Given the description of an element on the screen output the (x, y) to click on. 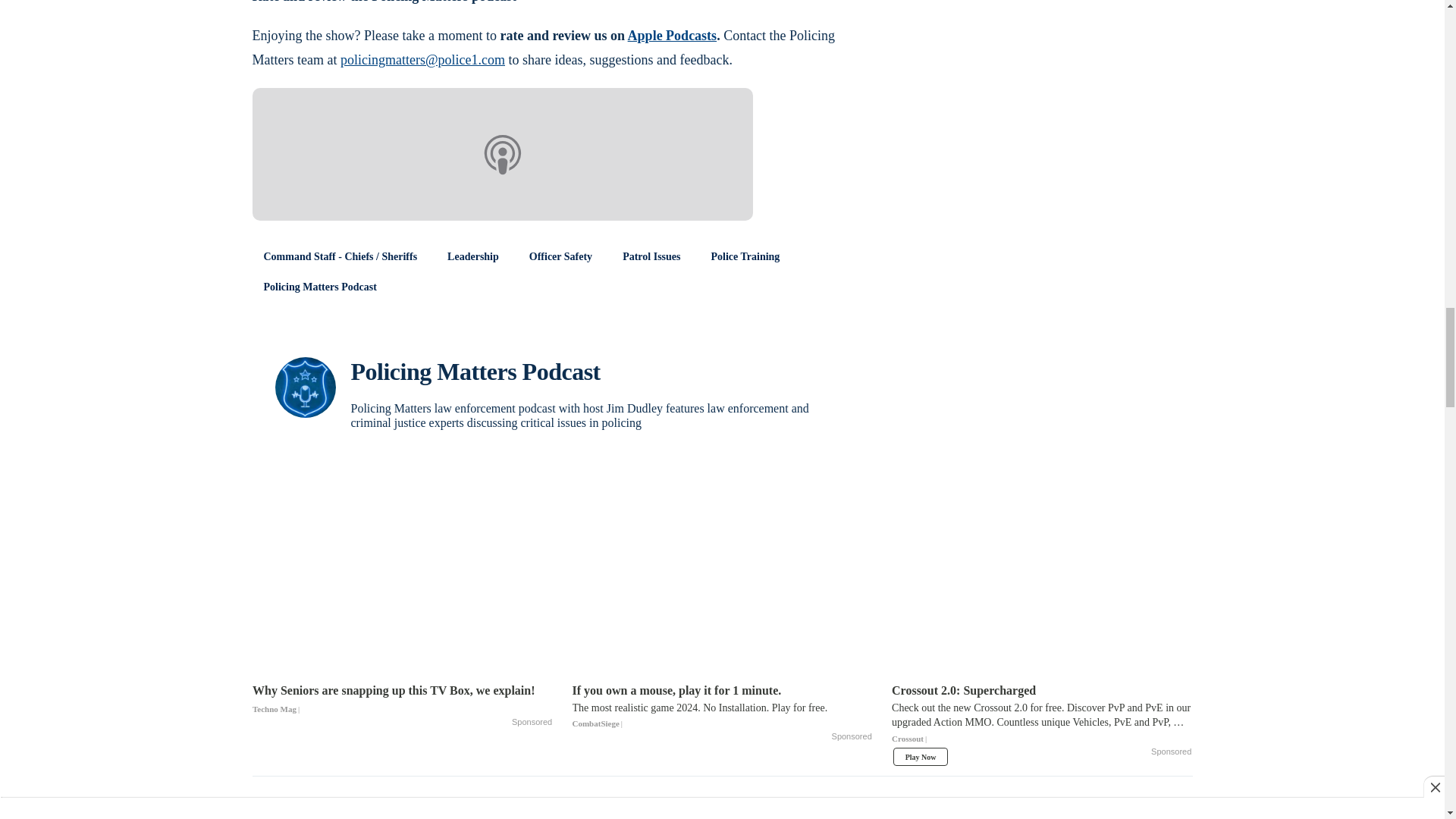
Crossout 2.0: Supercharged (1041, 718)
Why Seniors are snapping up this TV Box, we explain! (402, 699)
If you own a mouse, play it for 1 minute. (722, 707)
